Given the description of an element on the screen output the (x, y) to click on. 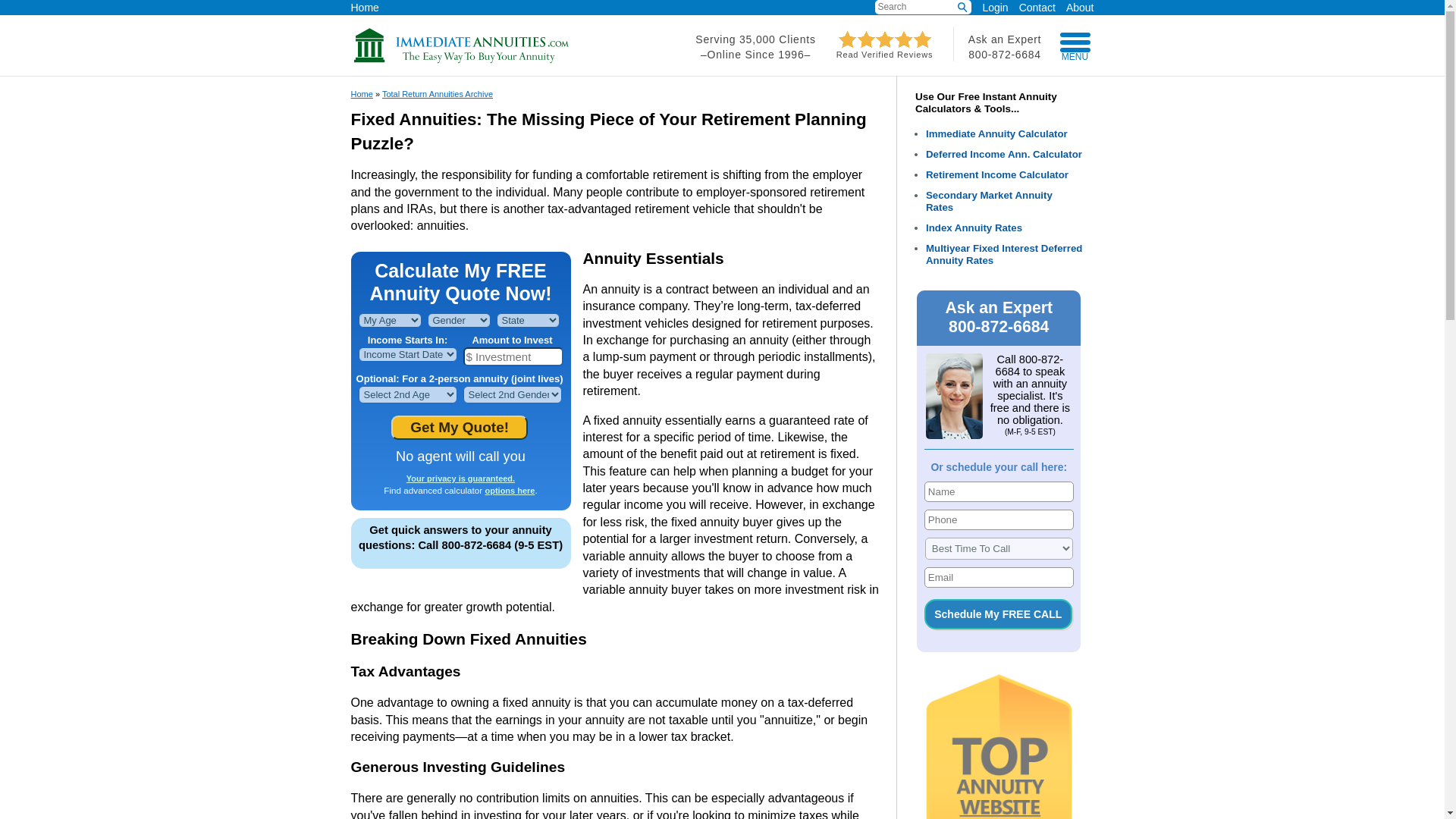
Contact (1032, 6)
About (1074, 6)
Read Verified Reviews (885, 49)
800-872-6684 (1004, 54)
For All Your Annuity Needs (461, 60)
Home (364, 6)
Get My Quote! (459, 427)
Total Return Annuities Archive (437, 93)
Schedule My FREE CALL (997, 613)
Login (994, 7)
